Given the description of an element on the screen output the (x, y) to click on. 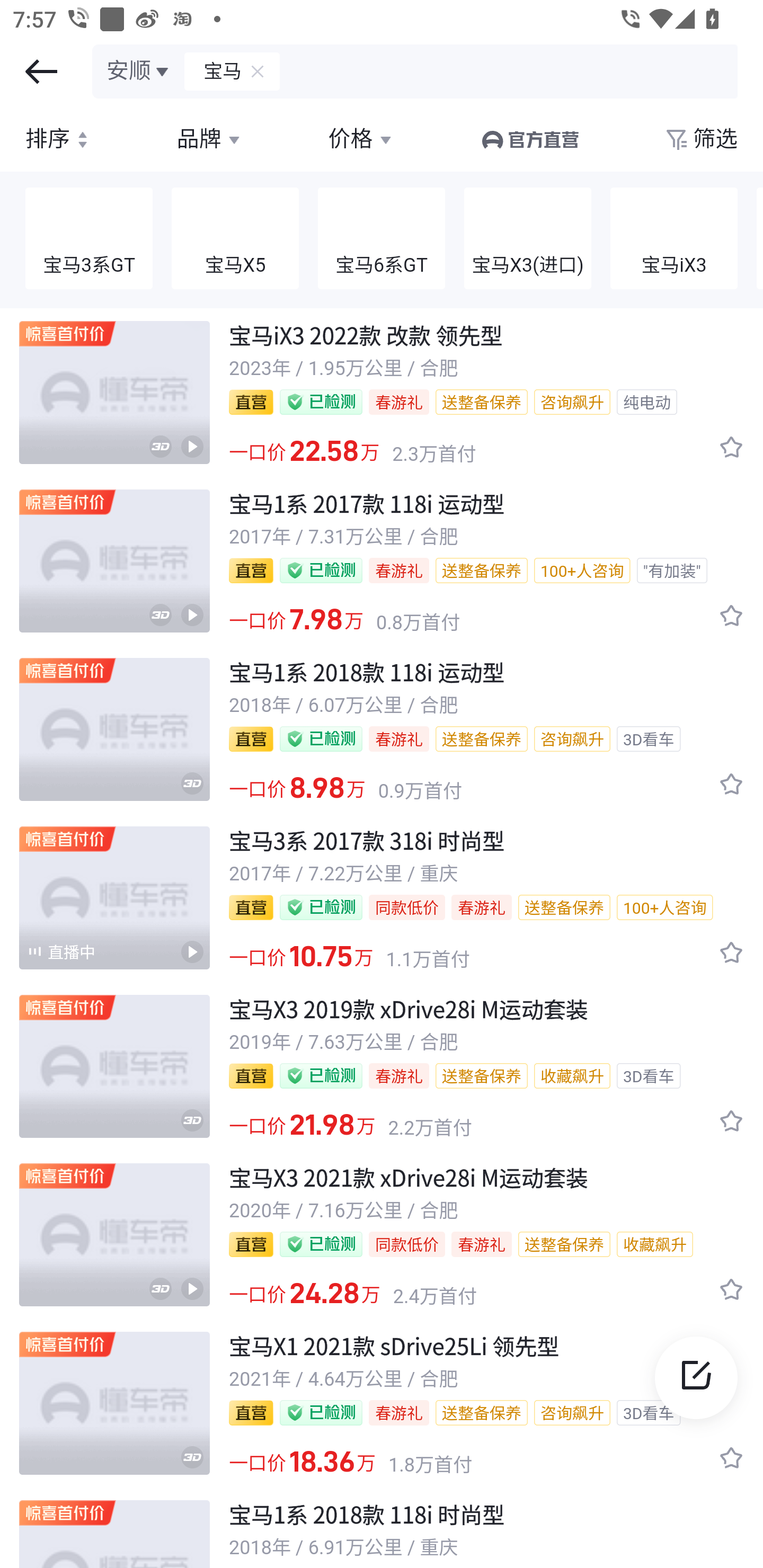
安顺 (139, 70)
宝马 (213, 70)
排序 (59, 139)
品牌 (210, 139)
价格 (361, 139)
官方直营 (528, 139)
筛选 (700, 139)
宝马3系GT (88, 239)
宝马X5 (235, 239)
宝马6系GT (381, 239)
宝马X3(进口) (527, 239)
宝马iX3 (673, 239)
